Given the description of an element on the screen output the (x, y) to click on. 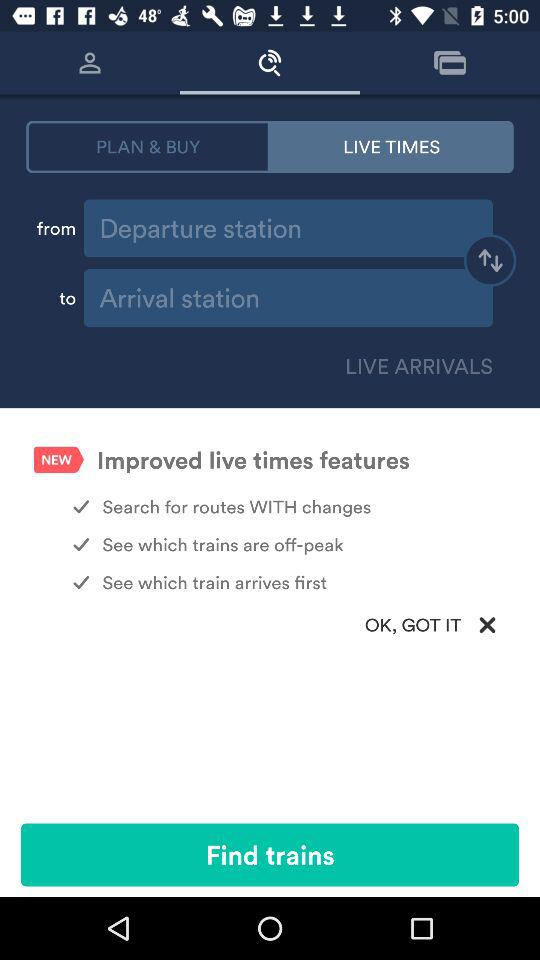
choose the ok, got it item (269, 624)
